Given the description of an element on the screen output the (x, y) to click on. 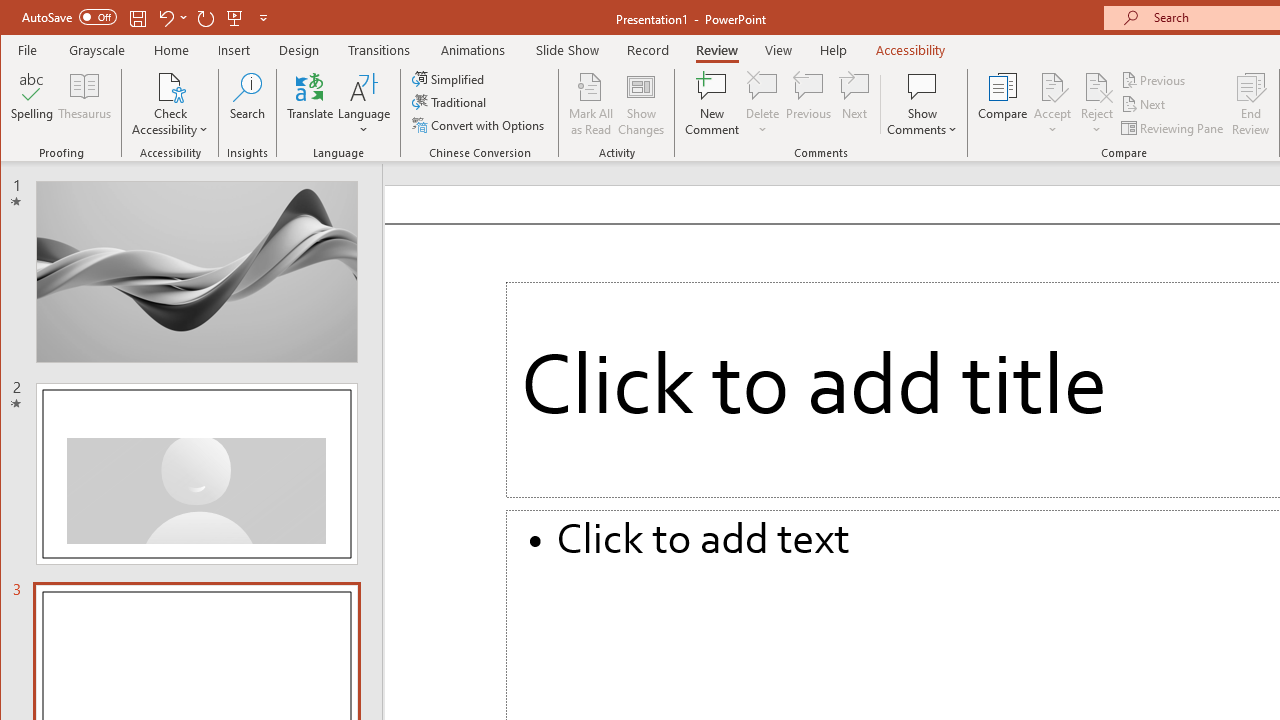
Grayscale (97, 50)
End Review (1251, 104)
New Comment (712, 104)
